Given the description of an element on the screen output the (x, y) to click on. 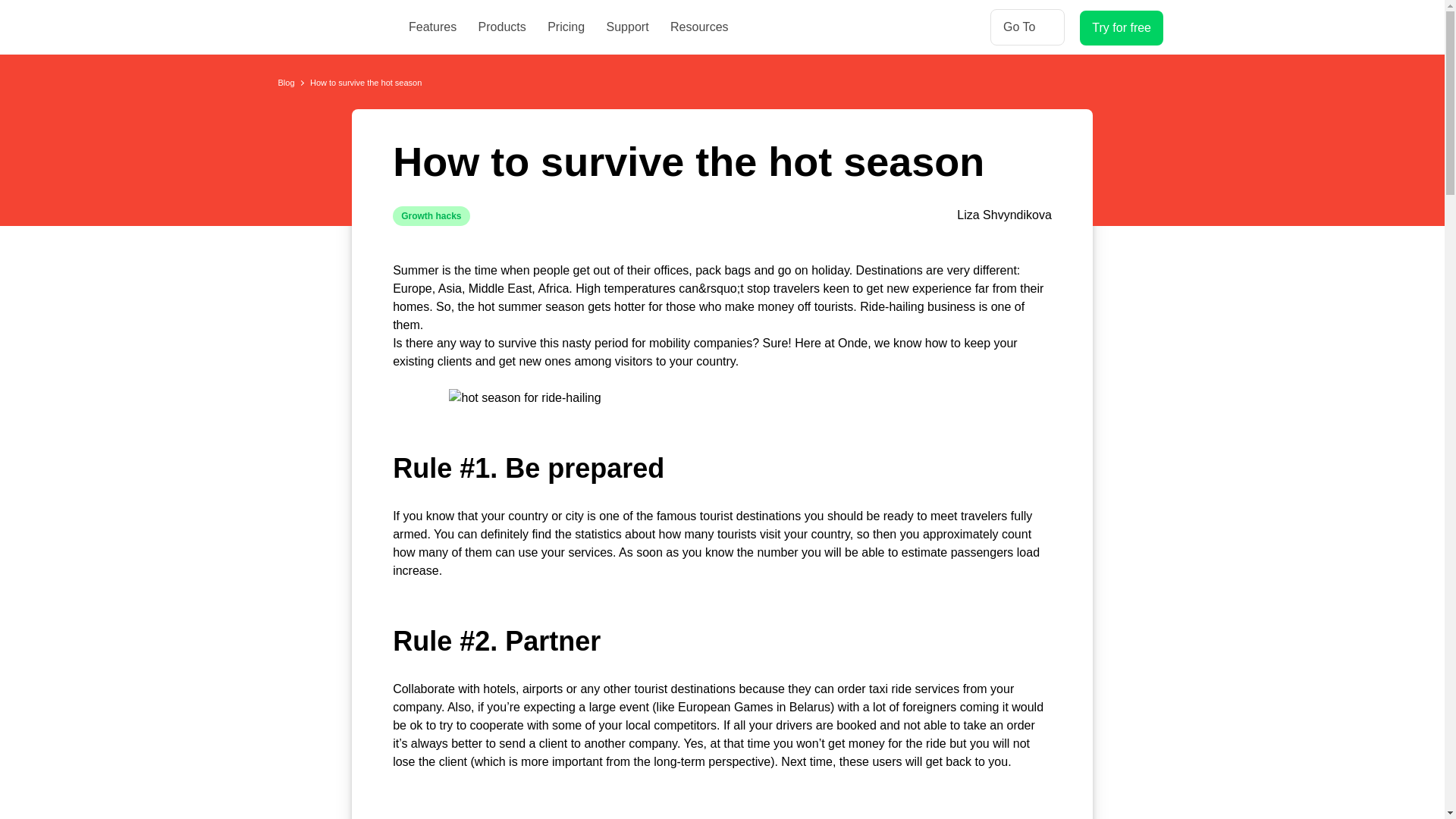
Support (628, 27)
Features (433, 27)
Try for free (1121, 27)
Onde home (327, 33)
Pricing (566, 27)
Blog (286, 81)
Products (502, 27)
